Given the description of an element on the screen output the (x, y) to click on. 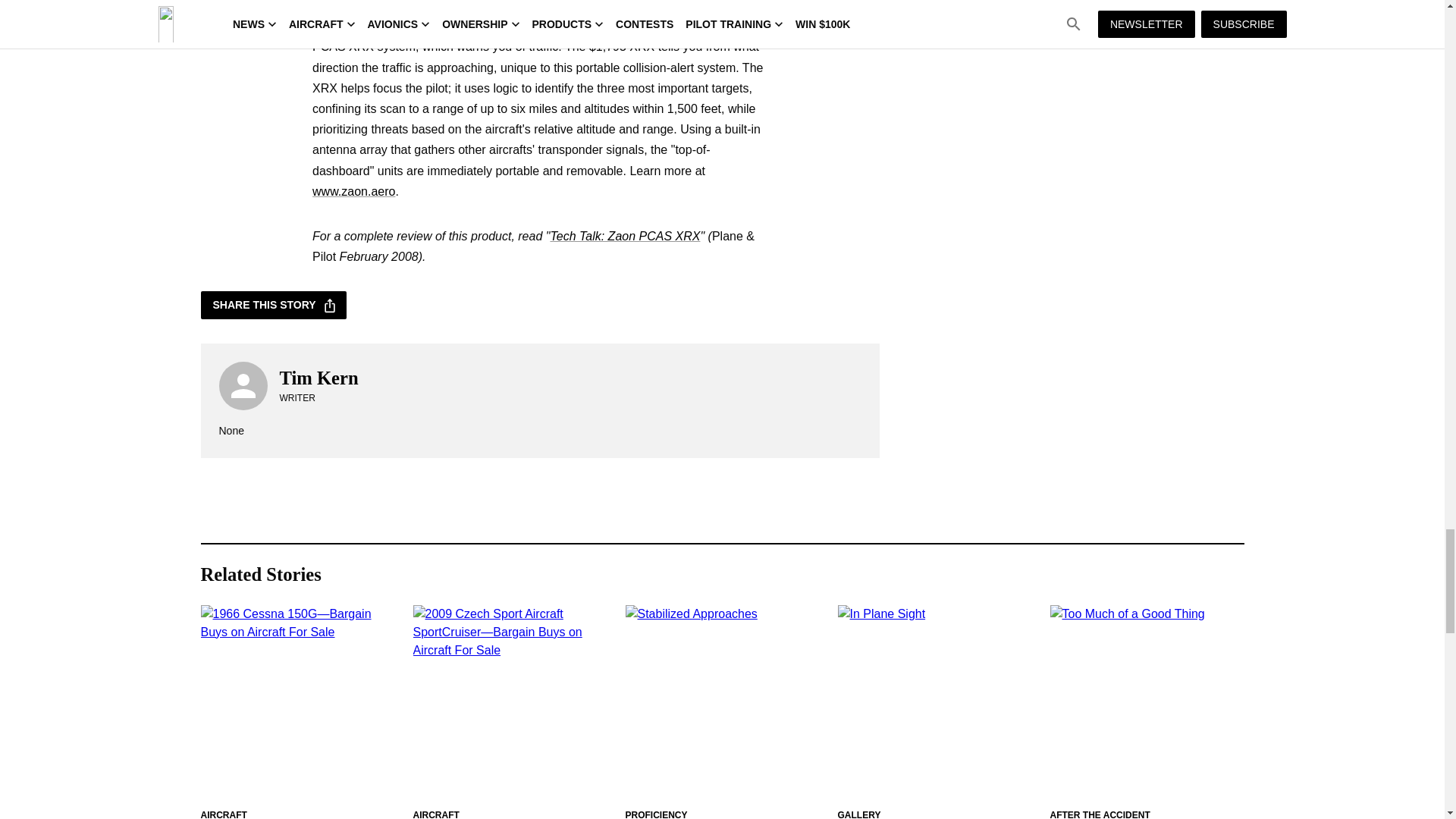
Too Much of a Good Thing (1146, 702)
Stabilized Approaches (721, 702)
Tech Talk: Zaon PCAS XRX (625, 236)
In Plane Sight (933, 702)
SHARE THIS STORY (273, 305)
www.zaon.aero (353, 191)
Tim Kern (318, 378)
